Given the description of an element on the screen output the (x, y) to click on. 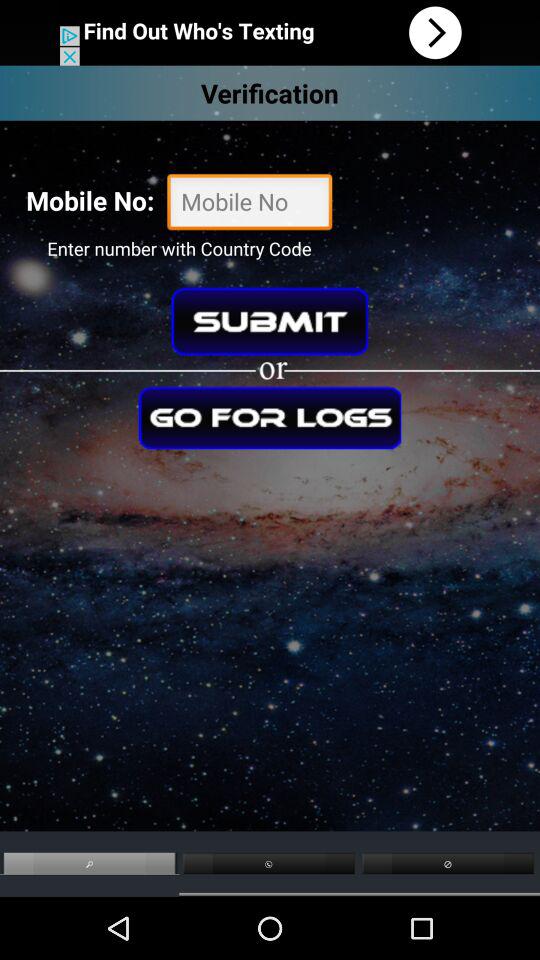
mobile no (249, 204)
